Given the description of an element on the screen output the (x, y) to click on. 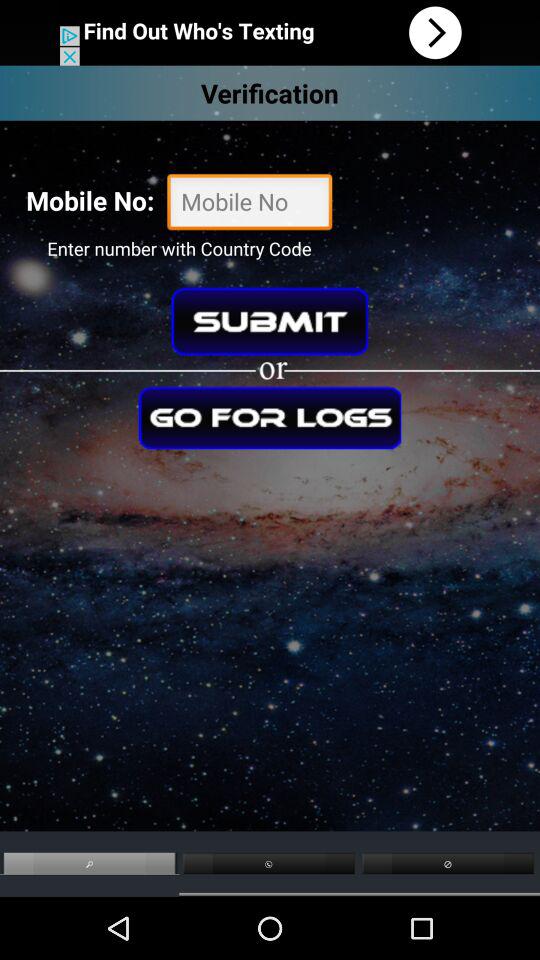
mobile no (249, 204)
